Given the description of an element on the screen output the (x, y) to click on. 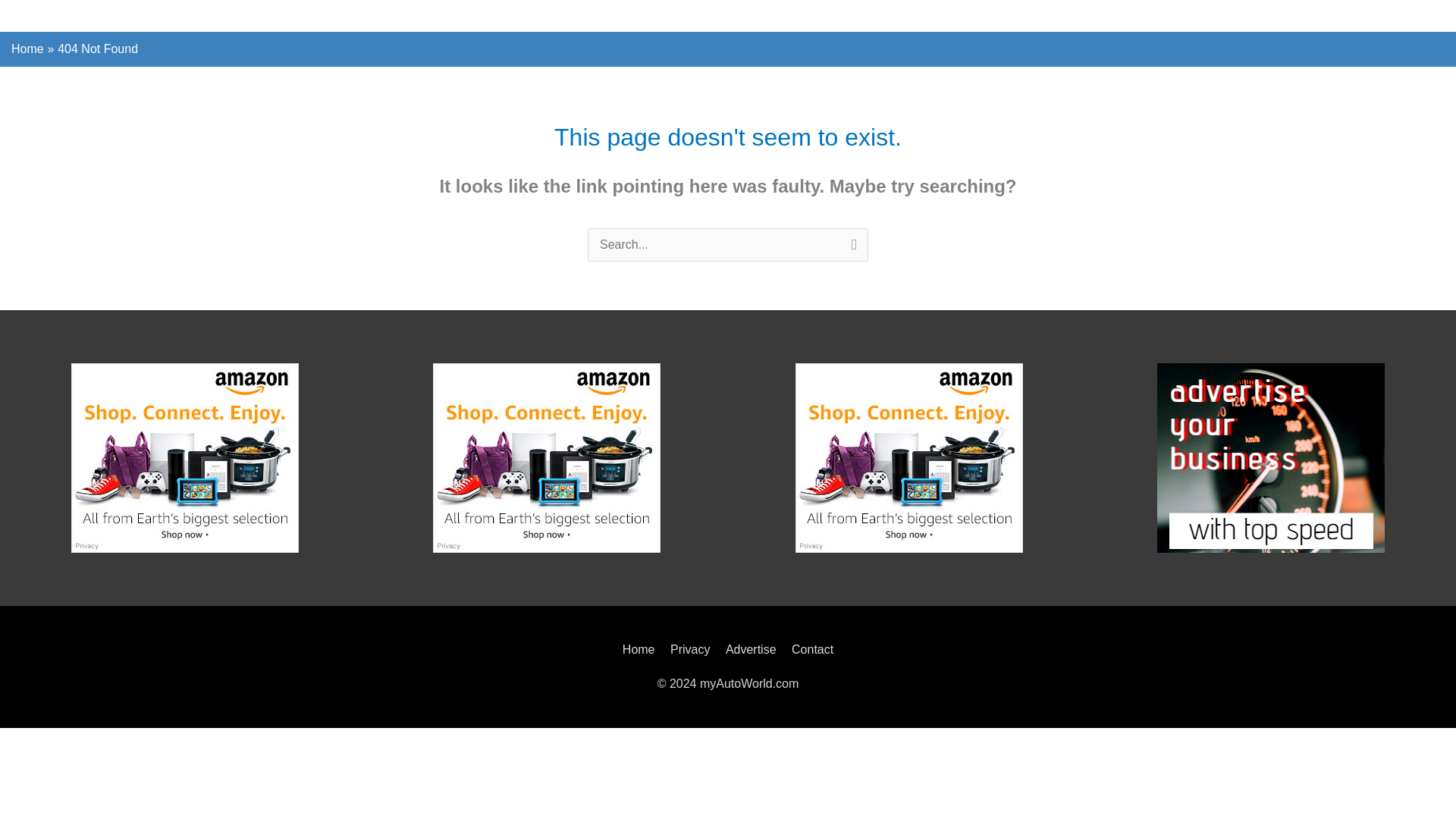
Privacy (689, 649)
Home (642, 649)
Advertise (751, 649)
Contact (809, 649)
Home (27, 48)
